Given the description of an element on the screen output the (x, y) to click on. 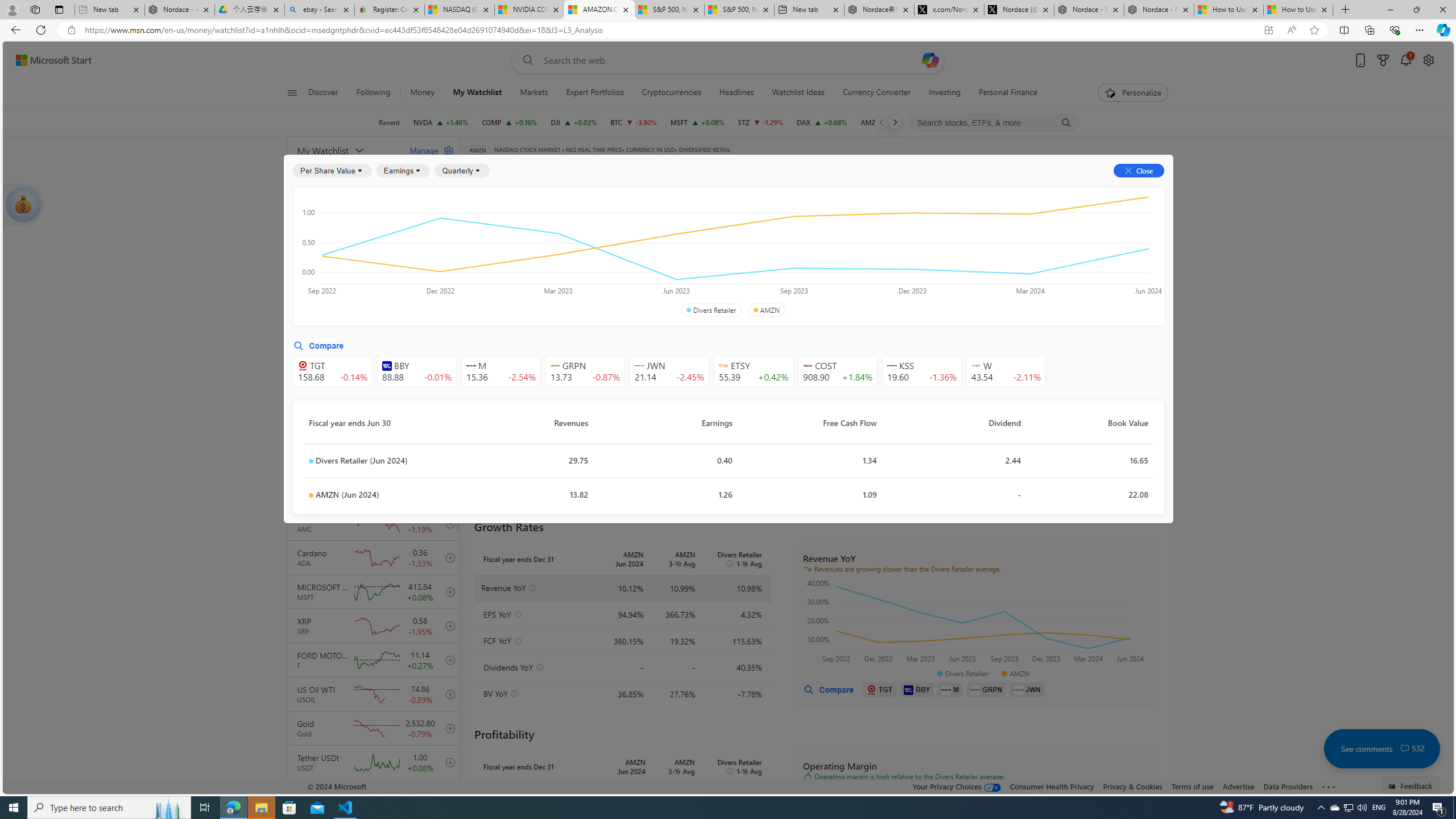
Per Share Value (331, 170)
Headlines (736, 92)
JWN (1027, 689)
Consumer Health Privacy (1051, 786)
My Watchlist (477, 92)
Investors (1009, 188)
Analysis (901, 188)
Enter your search term (730, 59)
